Given the description of an element on the screen output the (x, y) to click on. 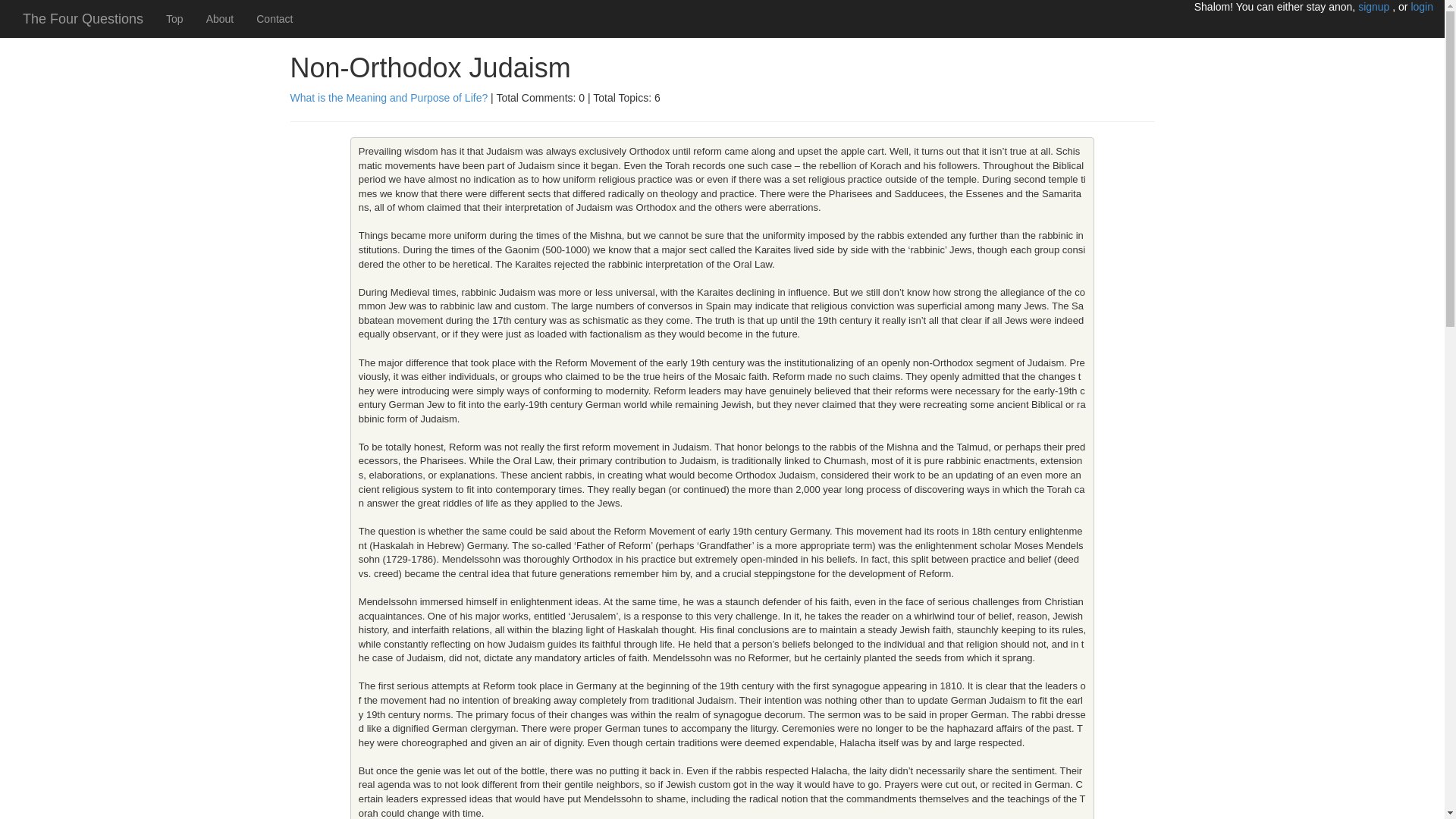
signup (1374, 6)
What is the Meaning and Purpose of Life? (388, 97)
Contact (274, 18)
About (220, 18)
The Four Questions (82, 18)
Top (174, 18)
login (1421, 6)
